Given the description of an element on the screen output the (x, y) to click on. 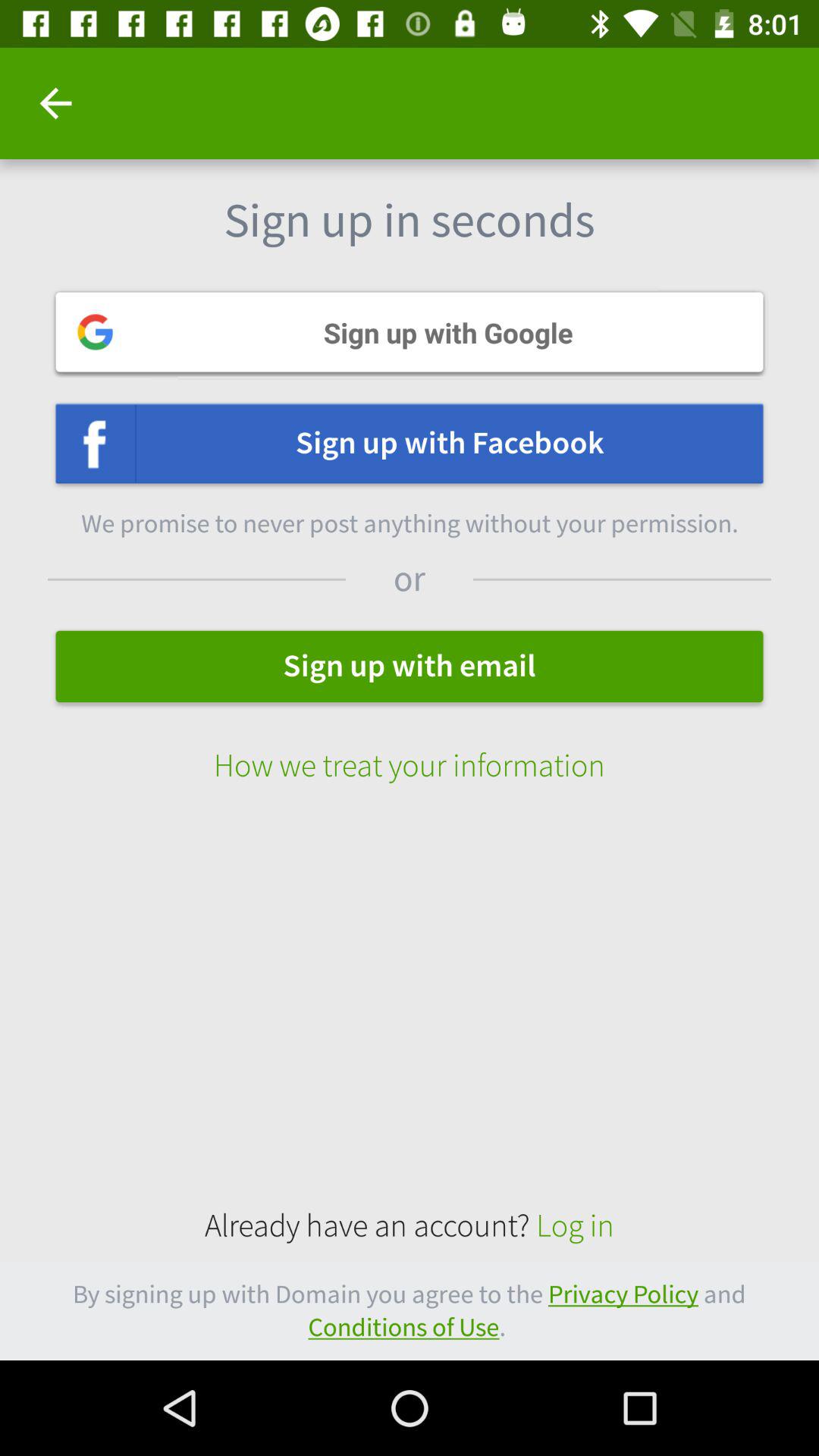
click how we treat icon (409, 750)
